Given the description of an element on the screen output the (x, y) to click on. 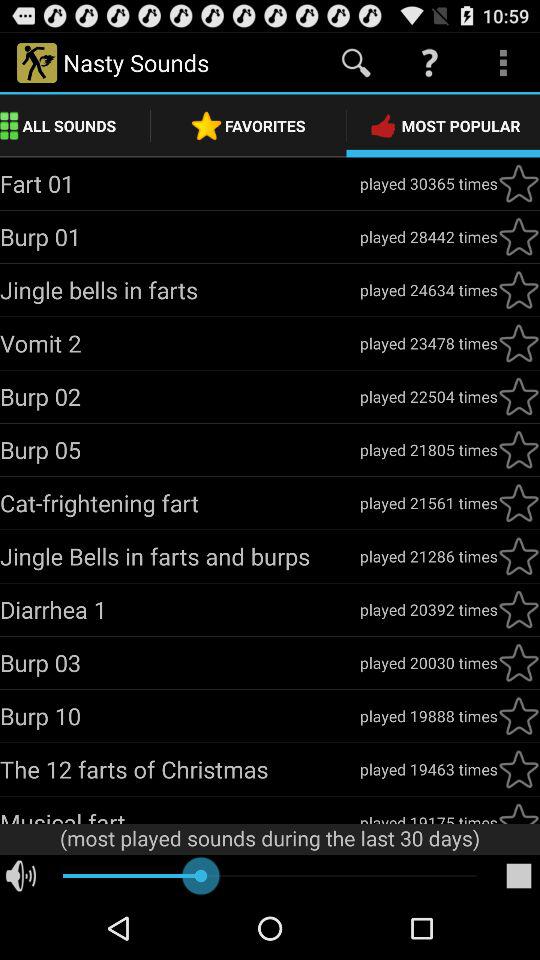
mark as favorite (519, 183)
